Given the description of an element on the screen output the (x, y) to click on. 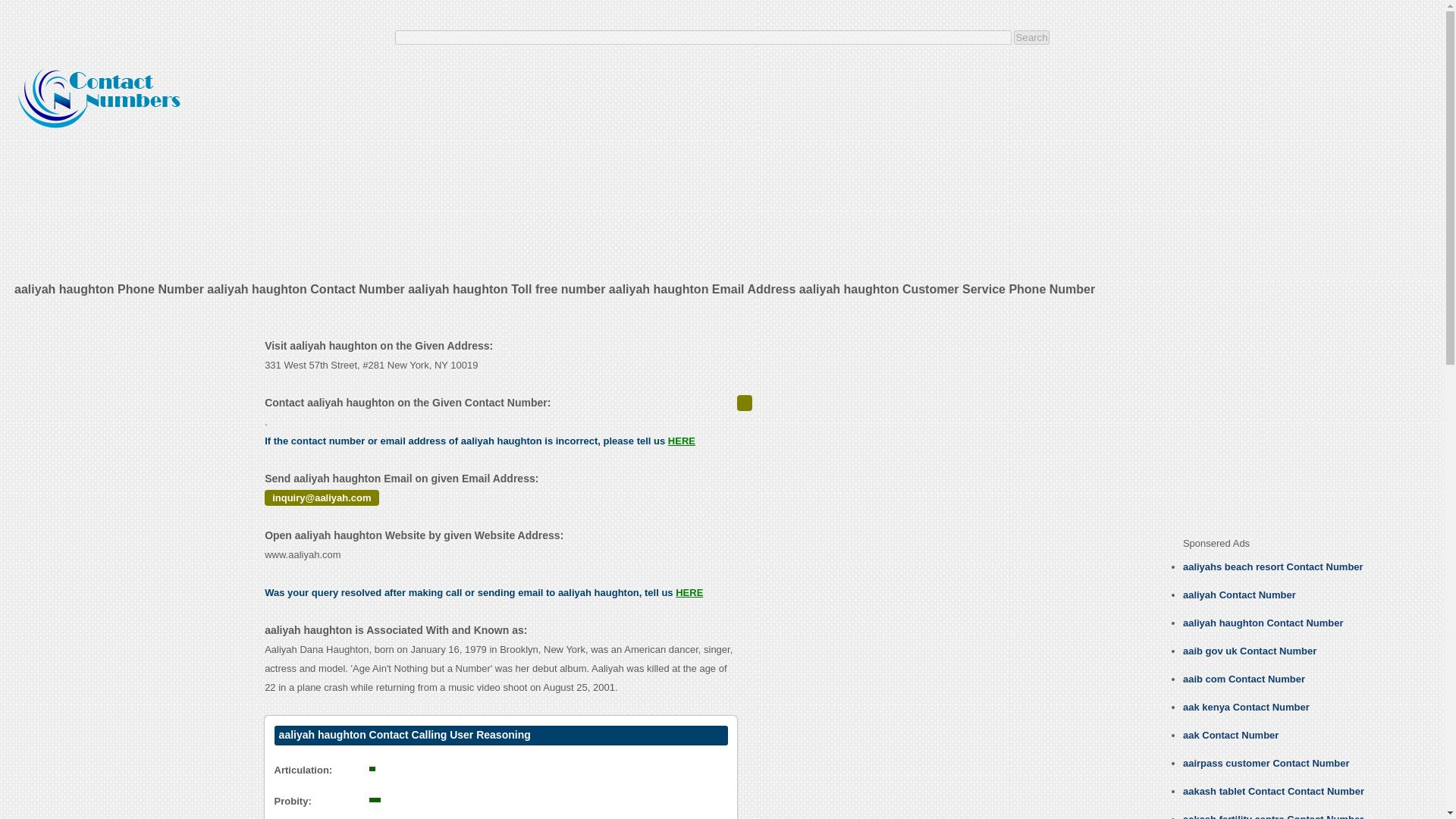
aakash fertility centre Contact Number (1272, 816)
aak Contact Number (1230, 735)
Contact Numbers and Address (100, 93)
Advertisement (1153, 165)
aaib com Contact Number (1243, 678)
HERE (689, 592)
aaliyah Contact Number (1238, 594)
aak kenya Contact Number (1245, 706)
aakash tablet Contact Contact Number (1273, 790)
aaliyah haughton Contact Number (1262, 622)
